Given the description of an element on the screen output the (x, y) to click on. 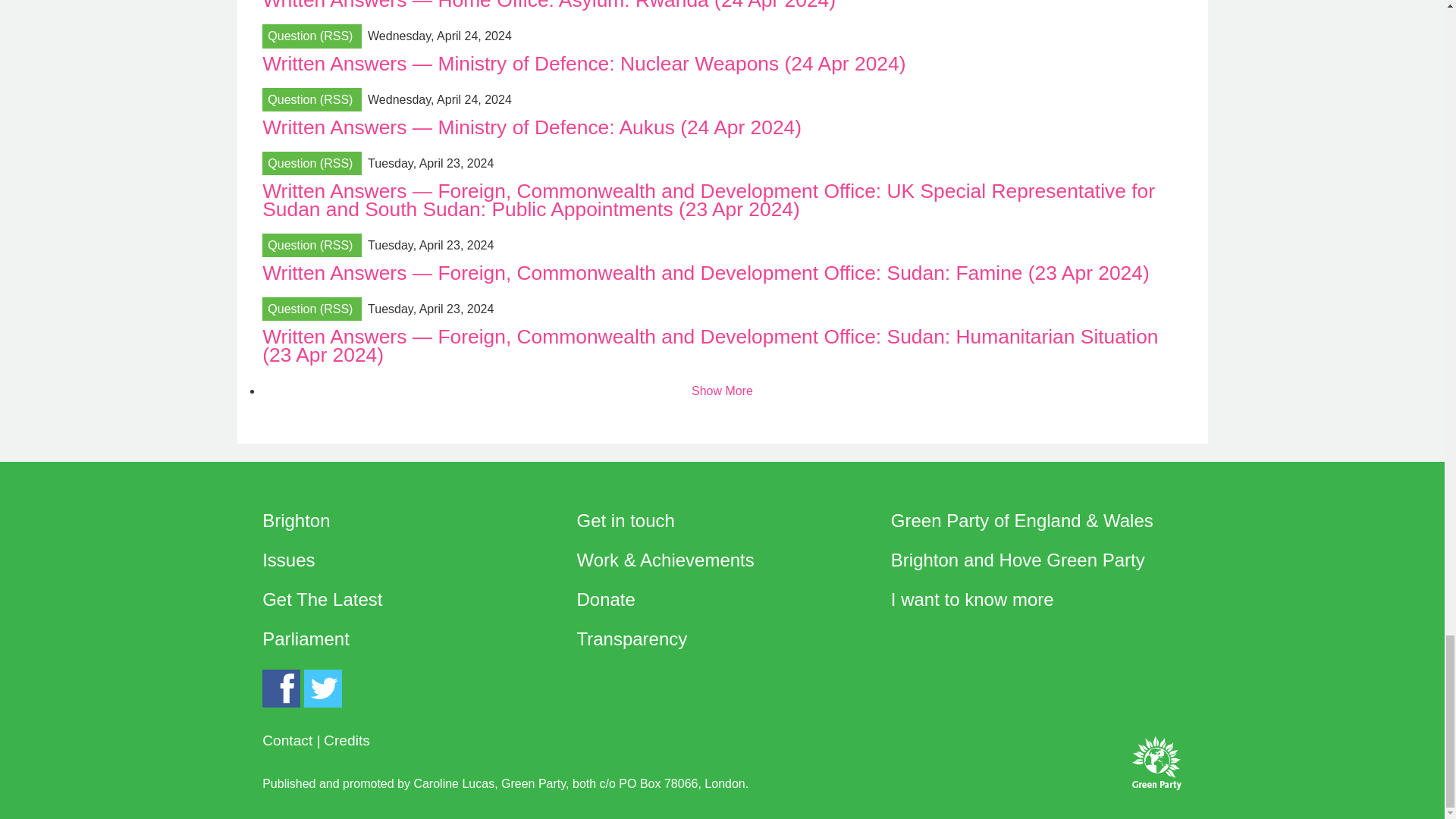
Show More (722, 391)
Issues (288, 559)
Get The Latest (321, 598)
Parliament (305, 638)
Brighton (296, 520)
